Given the description of an element on the screen output the (x, y) to click on. 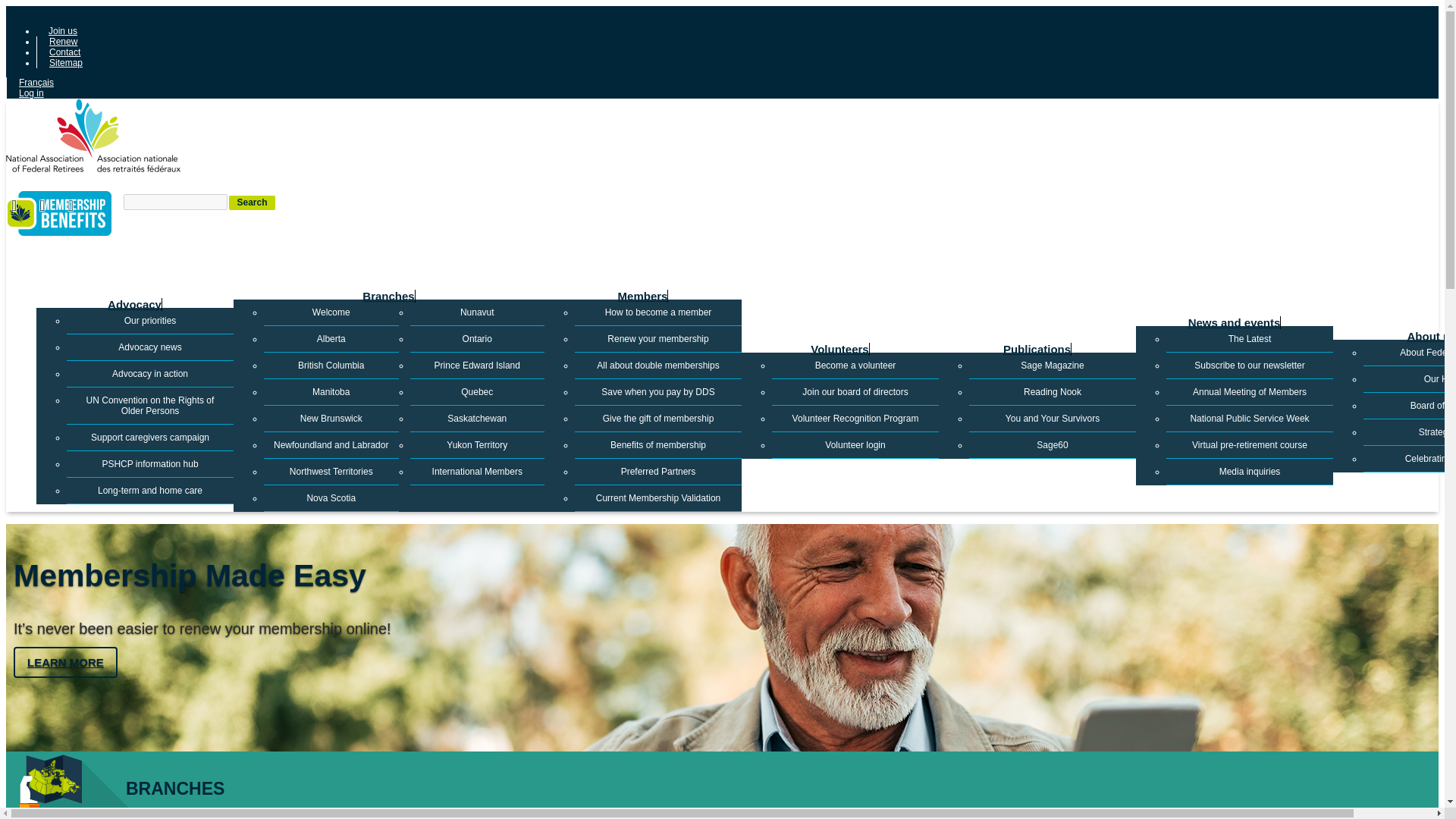
Prince Edward Island (476, 365)
Benefits of membership (58, 214)
International Members (476, 471)
Nova Scotia (330, 498)
UN Convention on the Rights of Older Persons (149, 405)
Nunavut (476, 312)
Skip to main content (722, 7)
Members (642, 295)
Welcome (330, 312)
All about double memberships (658, 365)
Renew (62, 41)
Newfoundland and Labrador (330, 445)
Sitemap (65, 62)
Log in (30, 92)
Saskatchewan (476, 418)
